Given the description of an element on the screen output the (x, y) to click on. 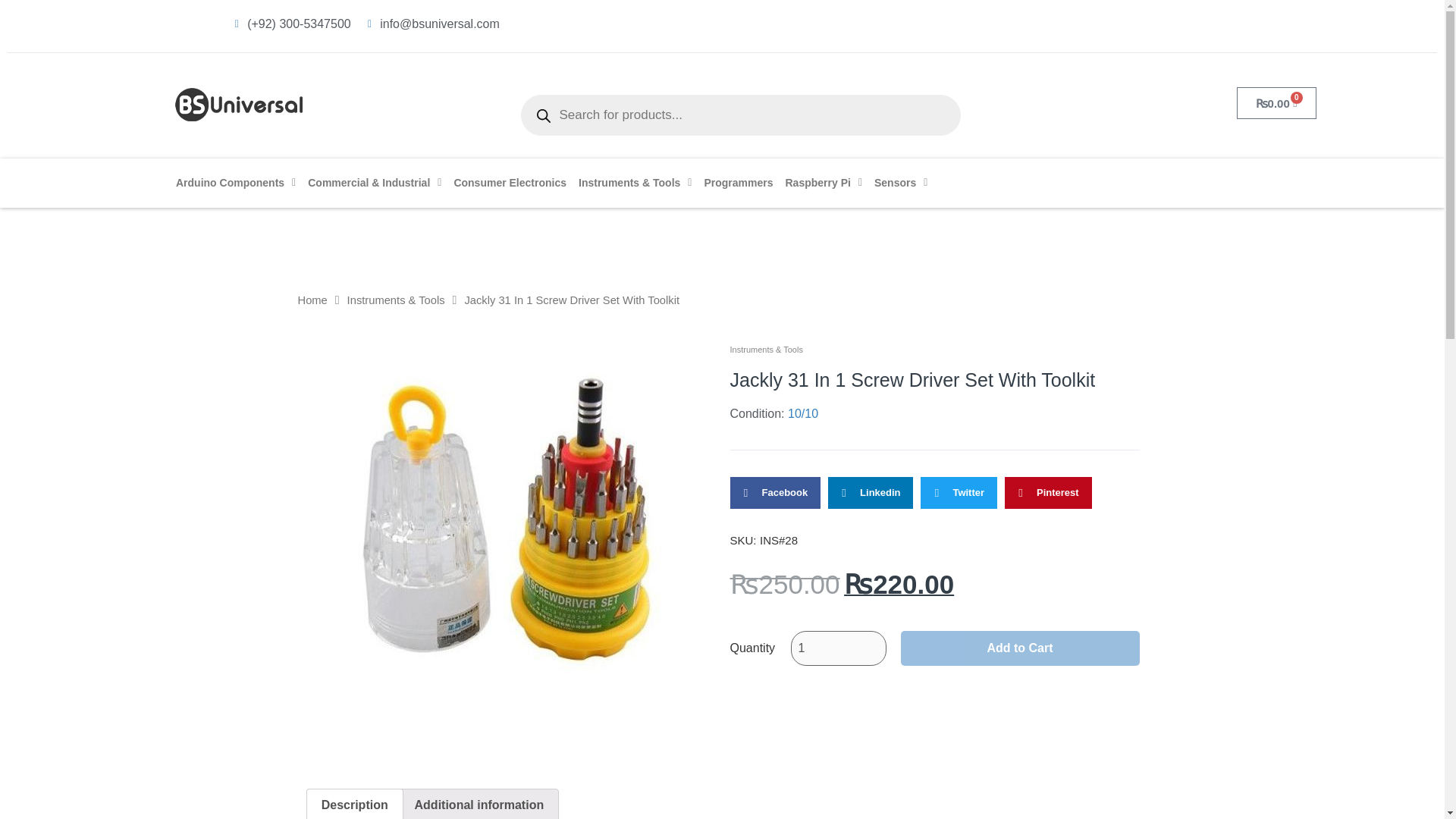
Programmers (737, 182)
Consumer Electronics (509, 182)
Sensors (900, 182)
Arduino Components (235, 182)
Raspberry Pi (823, 182)
1 (837, 647)
